Given the description of an element on the screen output the (x, y) to click on. 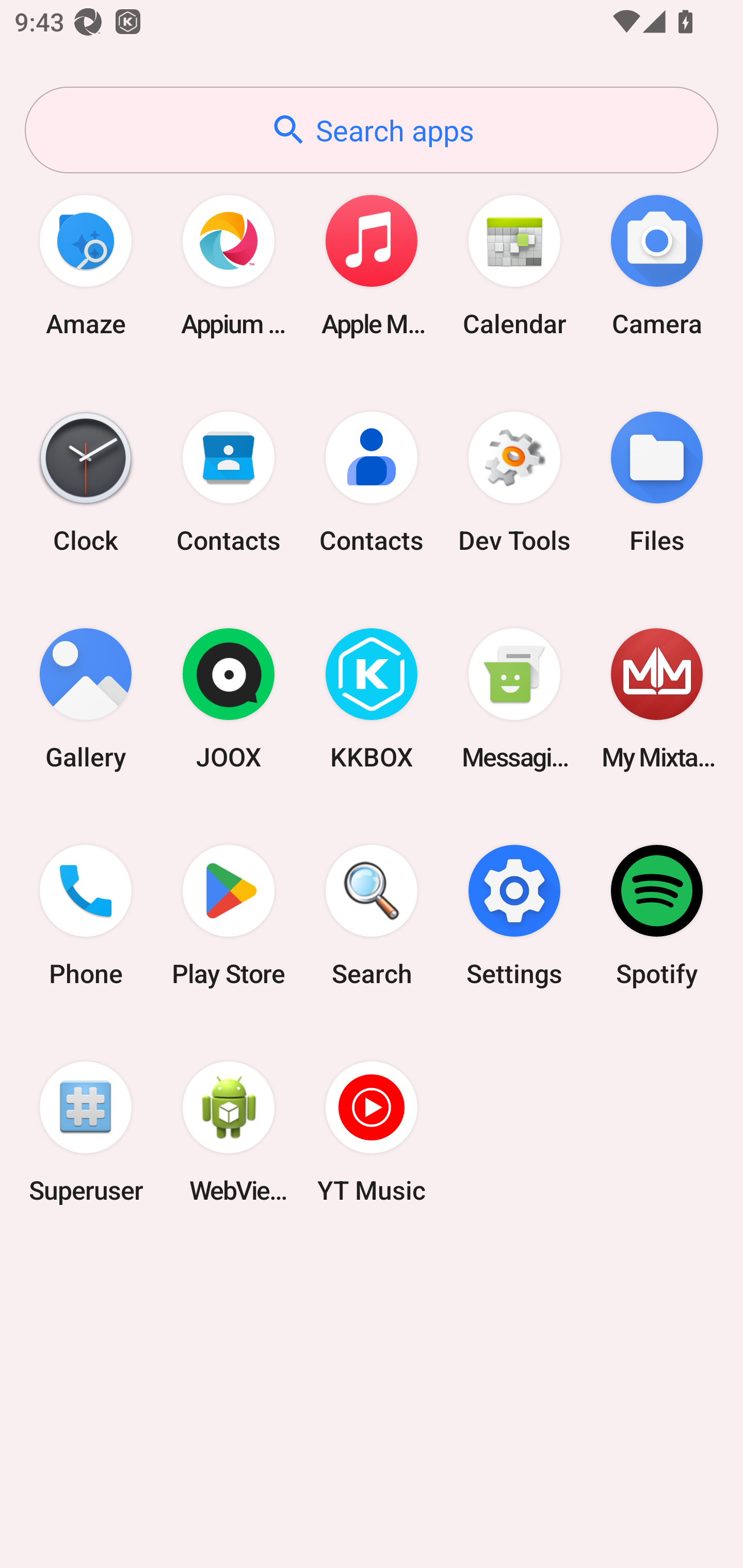
  Search apps (371, 130)
Amaze (85, 264)
Appium Settings (228, 264)
Apple Music (371, 264)
Calendar (514, 264)
Camera (656, 264)
Clock (85, 482)
Contacts (228, 482)
Contacts (371, 482)
Dev Tools (514, 482)
Files (656, 482)
Gallery (85, 699)
JOOX (228, 699)
KKBOX (371, 699)
Messaging (514, 699)
My Mixtapez (656, 699)
Phone (85, 915)
Play Store (228, 915)
Search (371, 915)
Settings (514, 915)
Spotify (656, 915)
Superuser (85, 1131)
WebView Browser Tester (228, 1131)
YT Music (371, 1131)
